Given the description of an element on the screen output the (x, y) to click on. 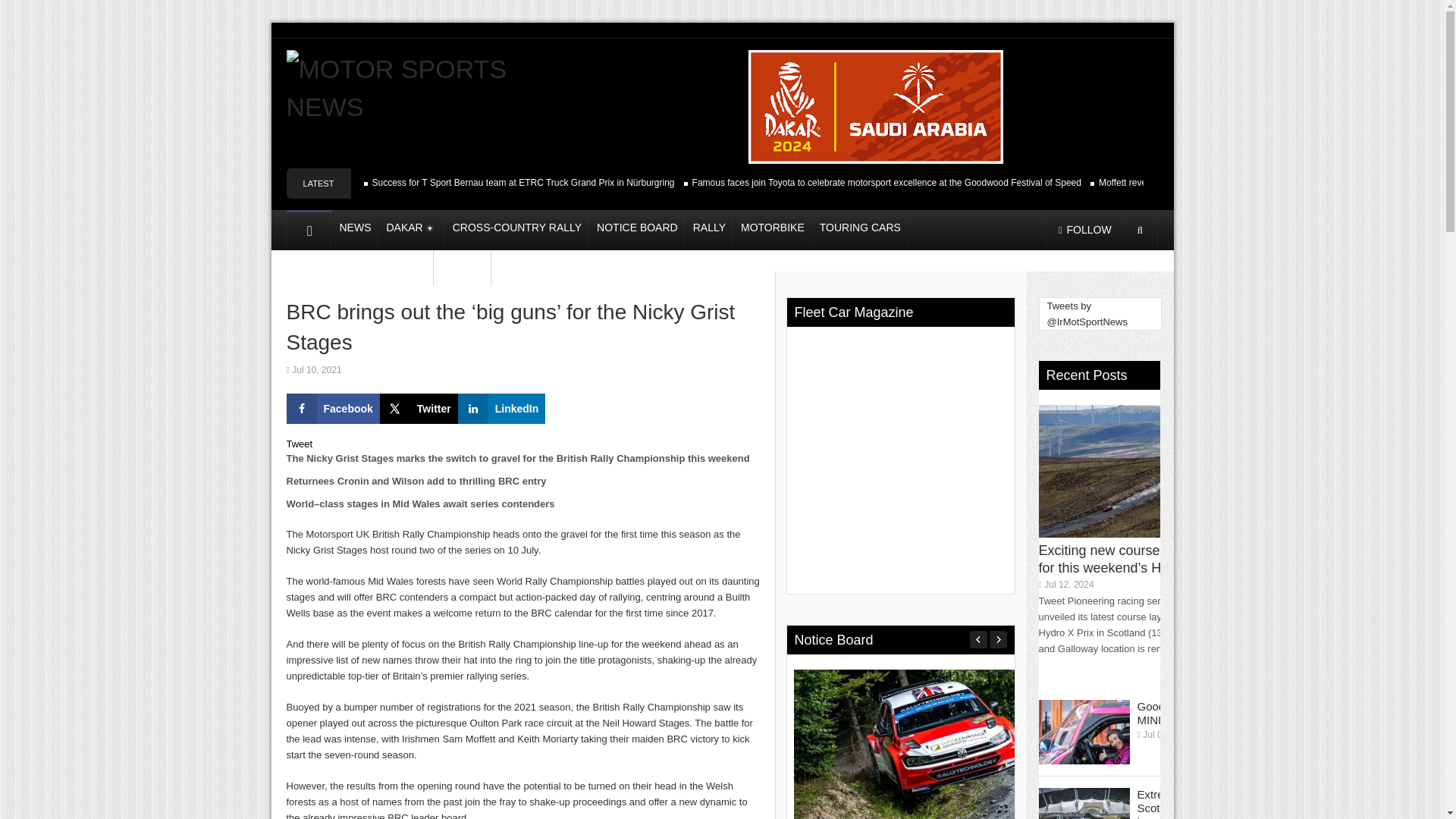
Share on X (419, 408)
CIRCUIT RACING (382, 266)
MOTORBIKE (772, 228)
CROSS-COUNTRY RALLY (517, 228)
Facebook (333, 408)
NEWS (354, 228)
DAKAR (411, 228)
LinkedIn (502, 408)
Tweet (299, 443)
Share on LinkedIn (502, 408)
Share on Facebook (333, 408)
NOTICE BOARD (637, 228)
Twitter (419, 408)
FOLLOW (1084, 229)
